Given the description of an element on the screen output the (x, y) to click on. 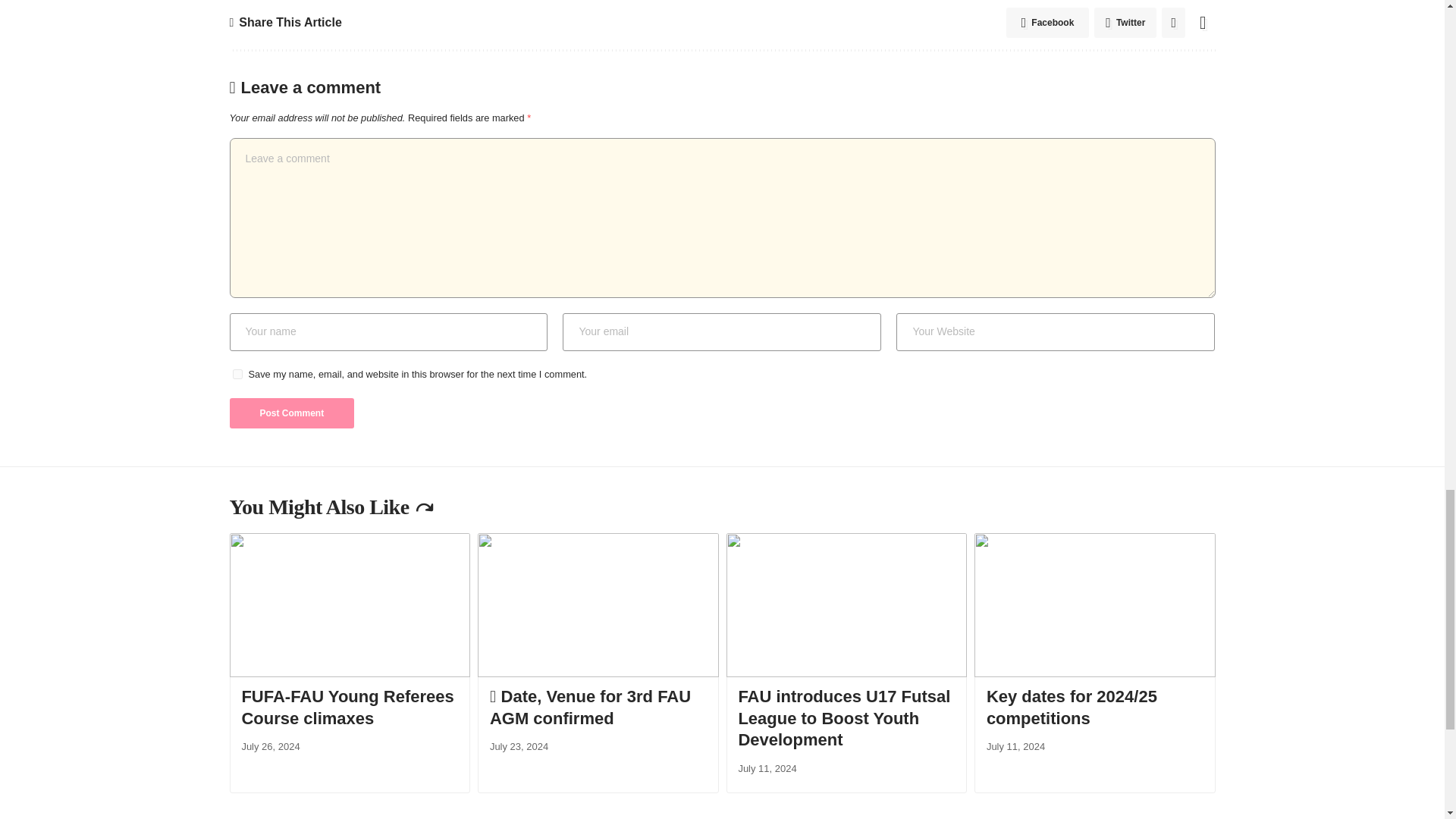
FUFA-FAU Young Referees Course climaxes (349, 605)
FAU introduces U17 Futsal League to Boost Youth Development (847, 605)
yes (236, 374)
Post Comment (290, 413)
Date, Venue for 3rd FAU AGM confirmed (598, 605)
